Given the description of an element on the screen output the (x, y) to click on. 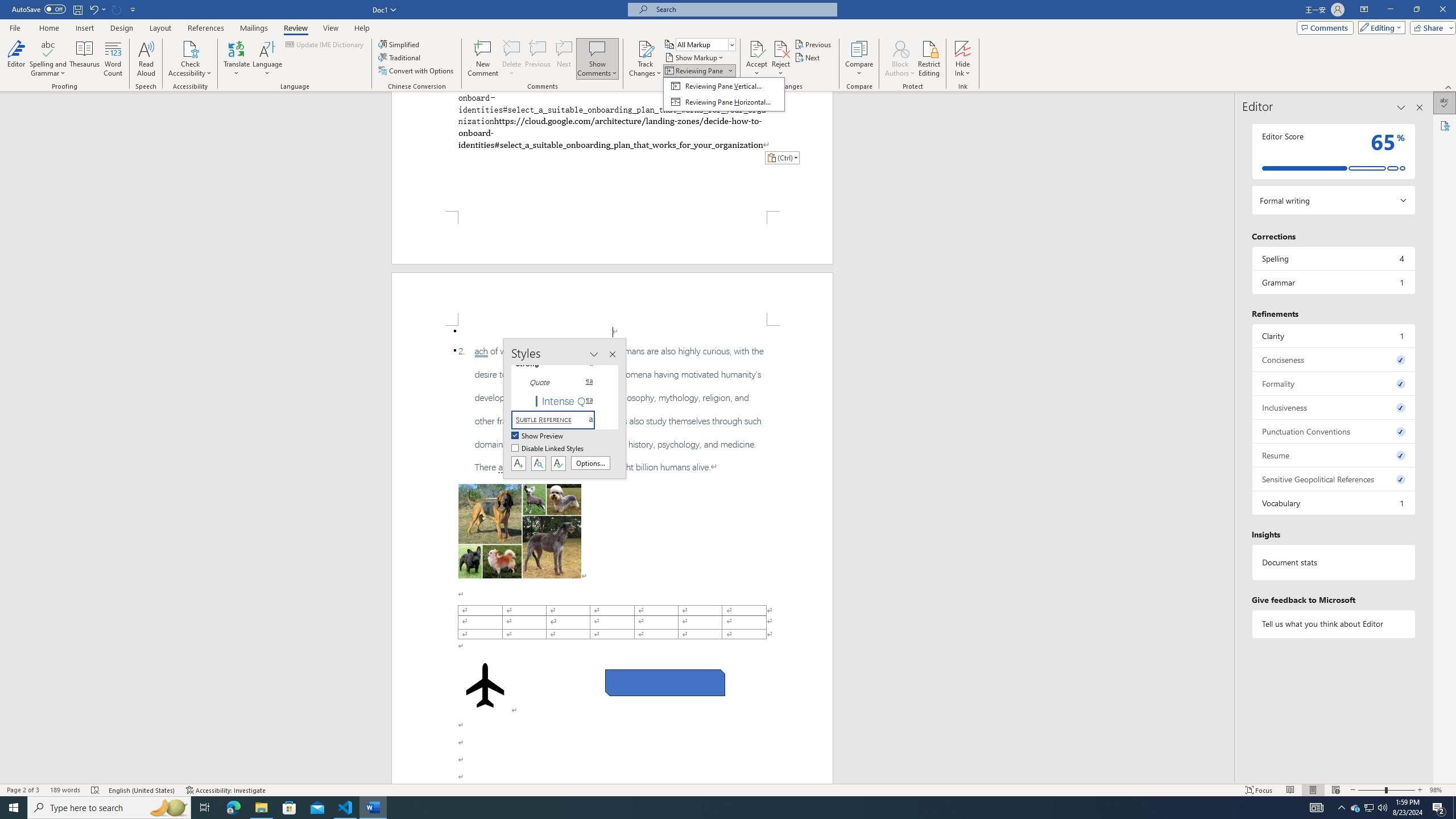
Update IME Dictionary... (324, 44)
Spelling and Grammar (48, 58)
Read Aloud (145, 58)
Check Accessibility (189, 48)
Rectangle: Diagonal Corners Snipped 2 (665, 682)
Document statistics (1333, 561)
Strong (559, 363)
New Comment (482, 58)
